Given the description of an element on the screen output the (x, y) to click on. 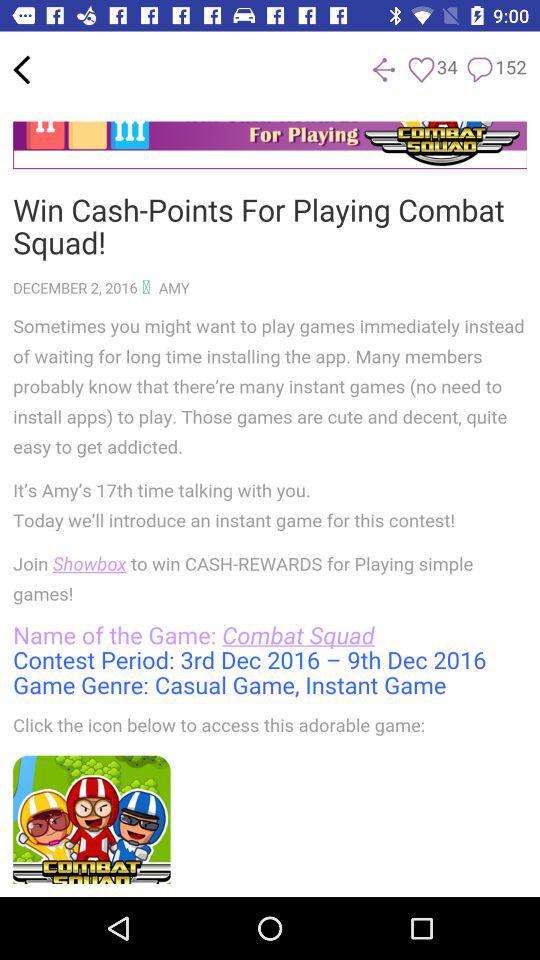
go to next (384, 69)
